Given the description of an element on the screen output the (x, y) to click on. 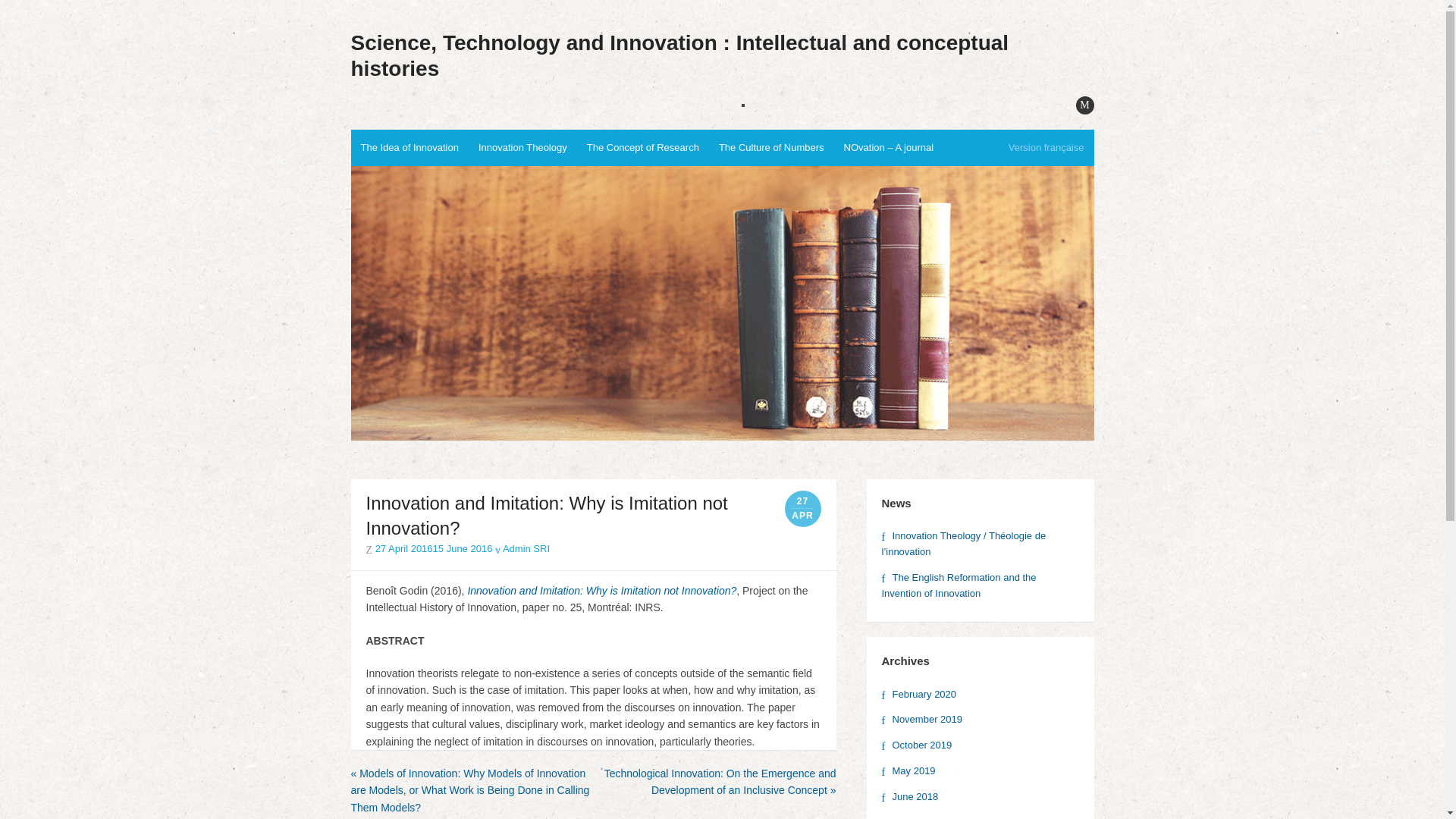
October 2019 (916, 745)
May 2019 (907, 770)
Admin SRI (522, 548)
February 2020 (918, 694)
The Culture of Numbers (771, 147)
October 2017 (916, 817)
The English Reformation and the Invention of Innovation (957, 584)
Innovation and Imitation: Why is Imitation not Innovation? (601, 590)
June 2018 (908, 796)
